Given the description of an element on the screen output the (x, y) to click on. 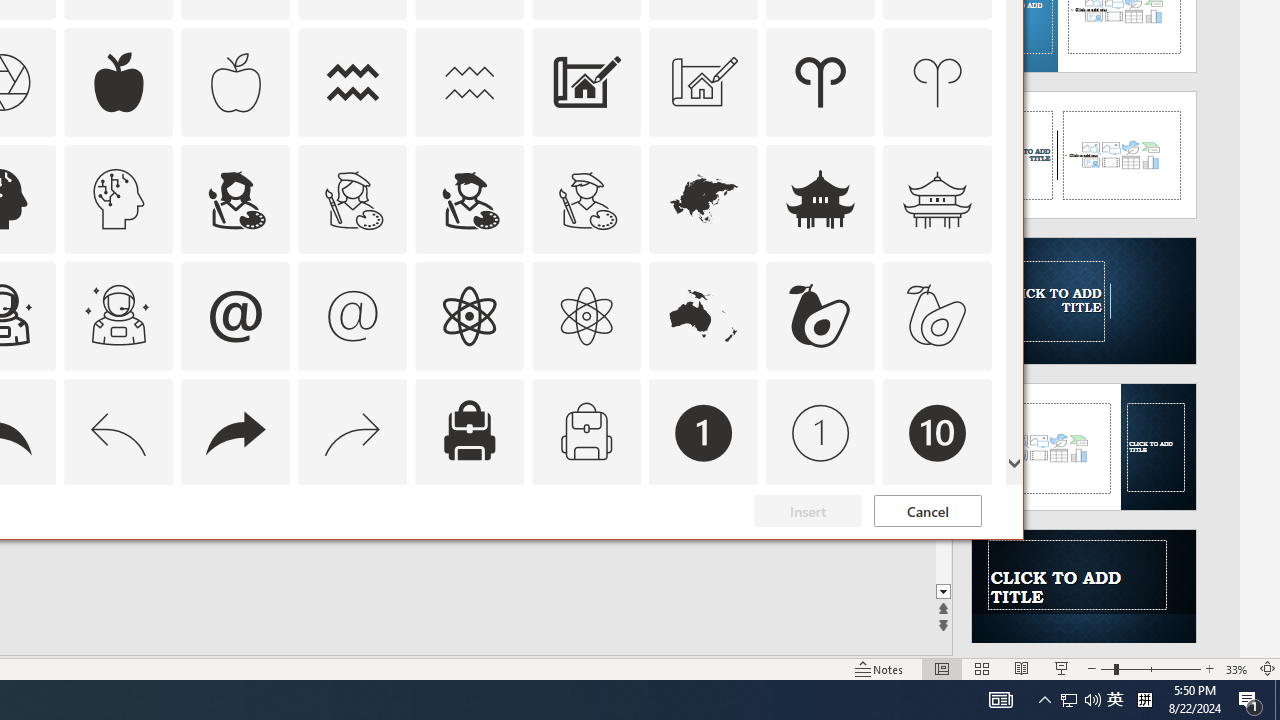
AutomationID: Icons_ArtistFemale_M (353, 198)
AutomationID: Icons_Aries (820, 82)
AutomationID: Icons_Aries_M (938, 82)
AutomationID: Icons_ArtistMale_M (586, 198)
AutomationID: Icons_Badge6 (118, 550)
Zoom 33% (1236, 668)
AutomationID: Icons_Apple (118, 82)
AutomationID: Icons (937, 550)
